Given the description of an element on the screen output the (x, y) to click on. 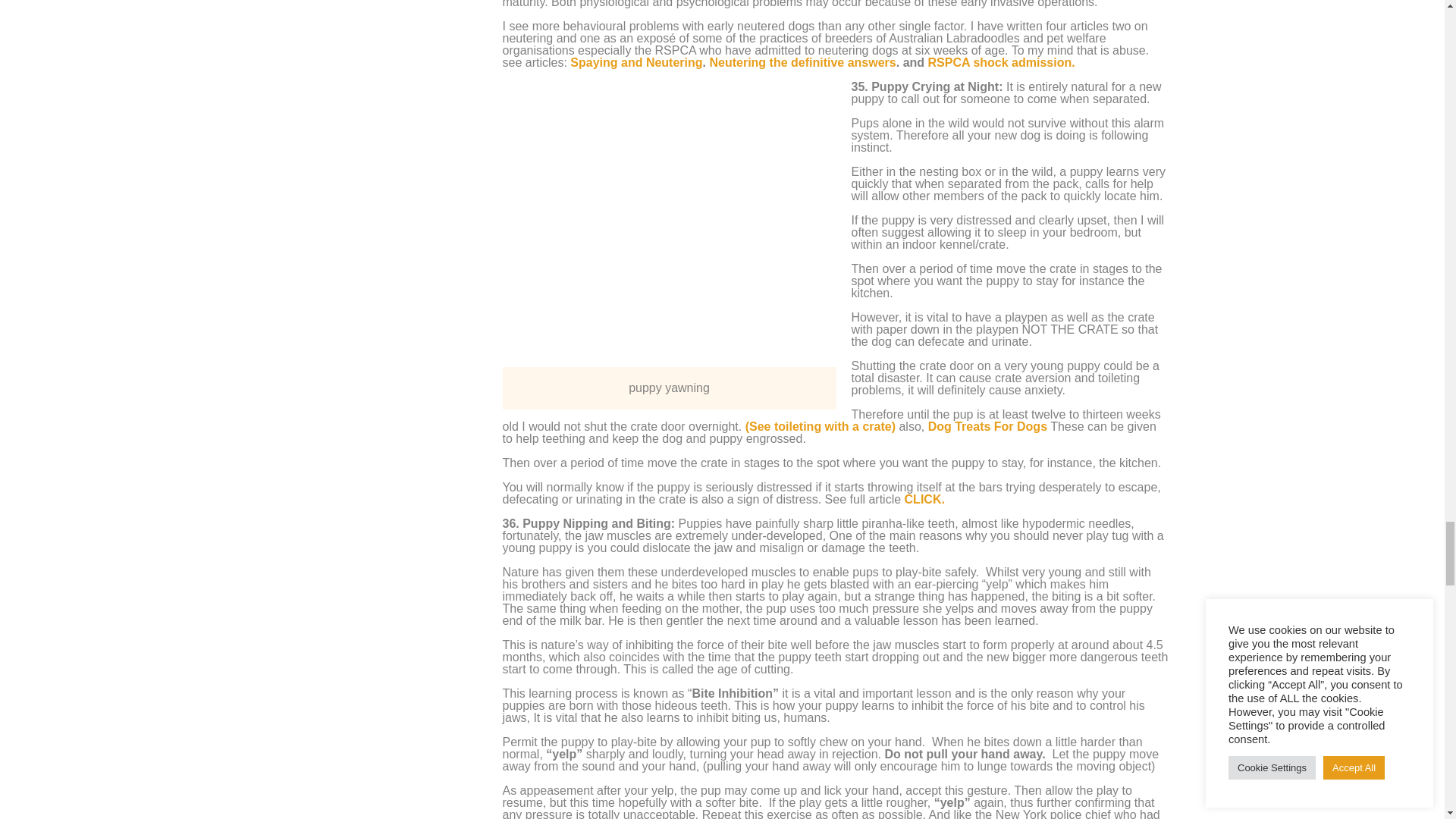
puppy yawning (668, 223)
Totally Natural For Pups and Adult Dogs (987, 426)
